Given the description of an element on the screen output the (x, y) to click on. 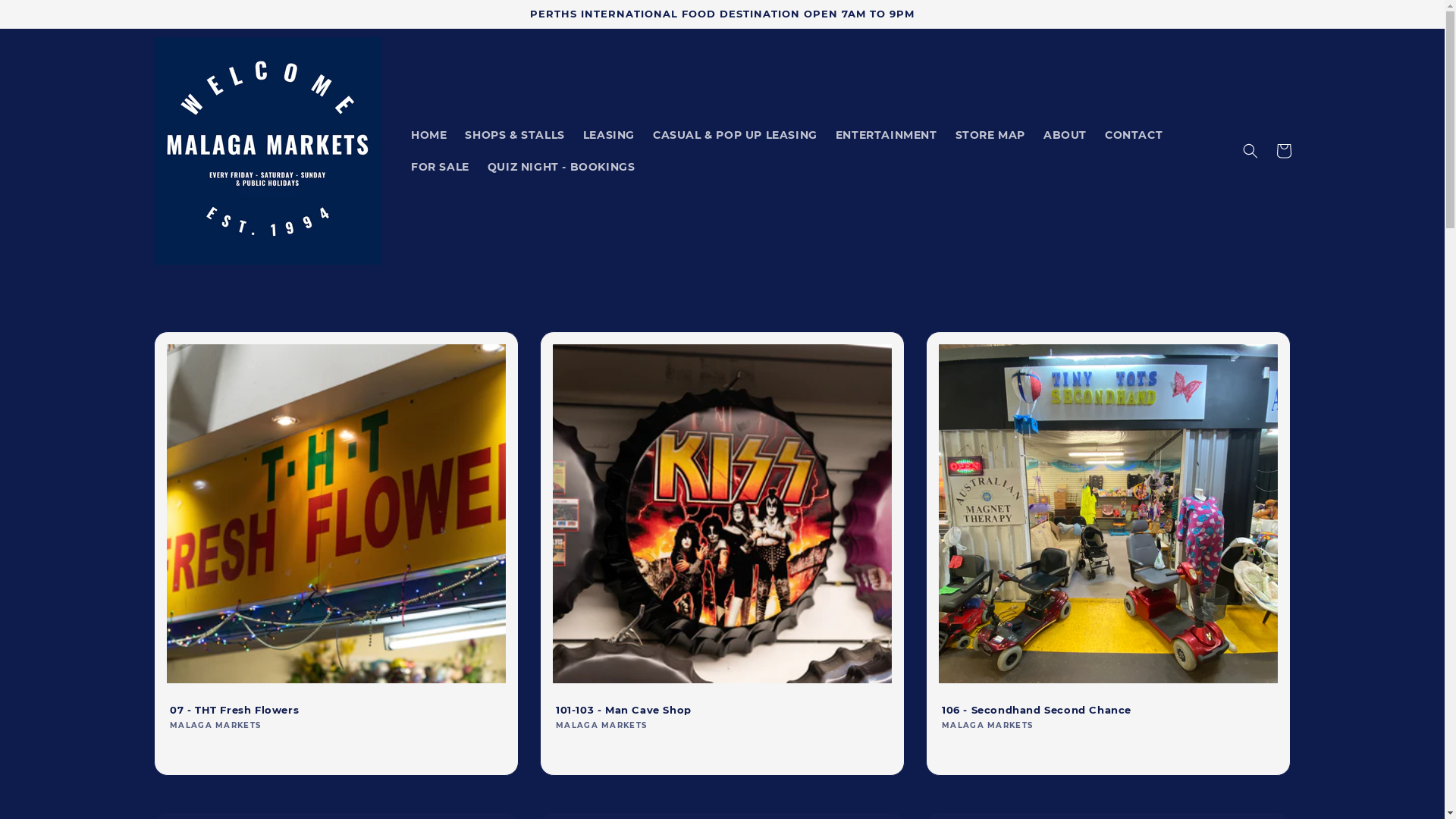
LEASING Element type: text (608, 134)
106 - Secondhand Second Chance Element type: text (1107, 709)
QUIZ NIGHT - BOOKINGS Element type: text (561, 166)
HOME Element type: text (428, 134)
SHOPS & STALLS Element type: text (514, 134)
STORE MAP Element type: text (990, 134)
CASUAL & POP UP LEASING Element type: text (734, 134)
ENTERTAINMENT Element type: text (886, 134)
FOR SALE Element type: text (439, 166)
Cart Element type: text (1282, 150)
101-103 - Man Cave Shop Element type: text (721, 709)
CONTACT Element type: text (1133, 134)
ABOUT Element type: text (1064, 134)
07 - THT Fresh Flowers Element type: text (335, 709)
